Given the description of an element on the screen output the (x, y) to click on. 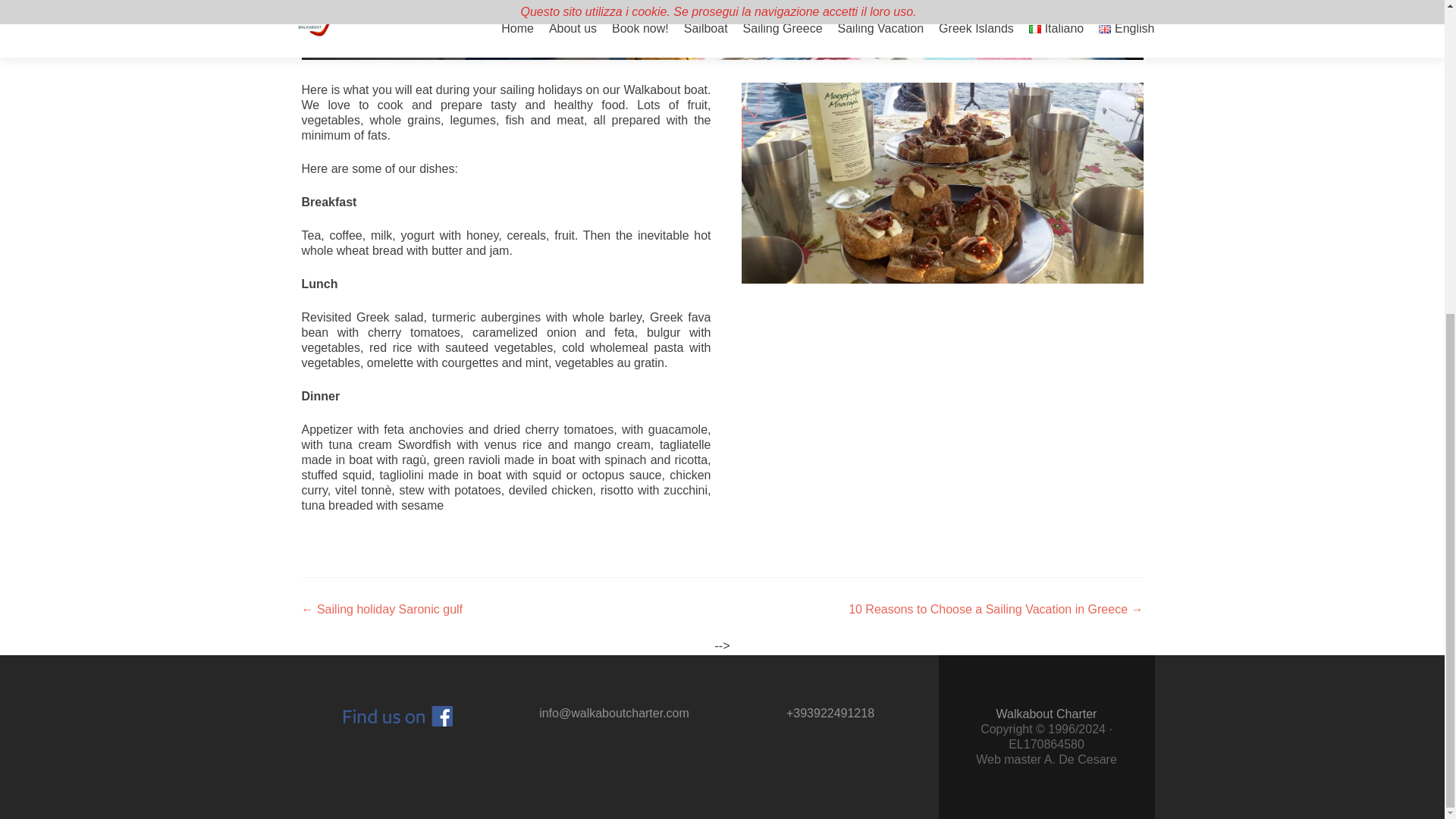
Tagliatelle fatte in barca (721, 29)
